Given the description of an element on the screen output the (x, y) to click on. 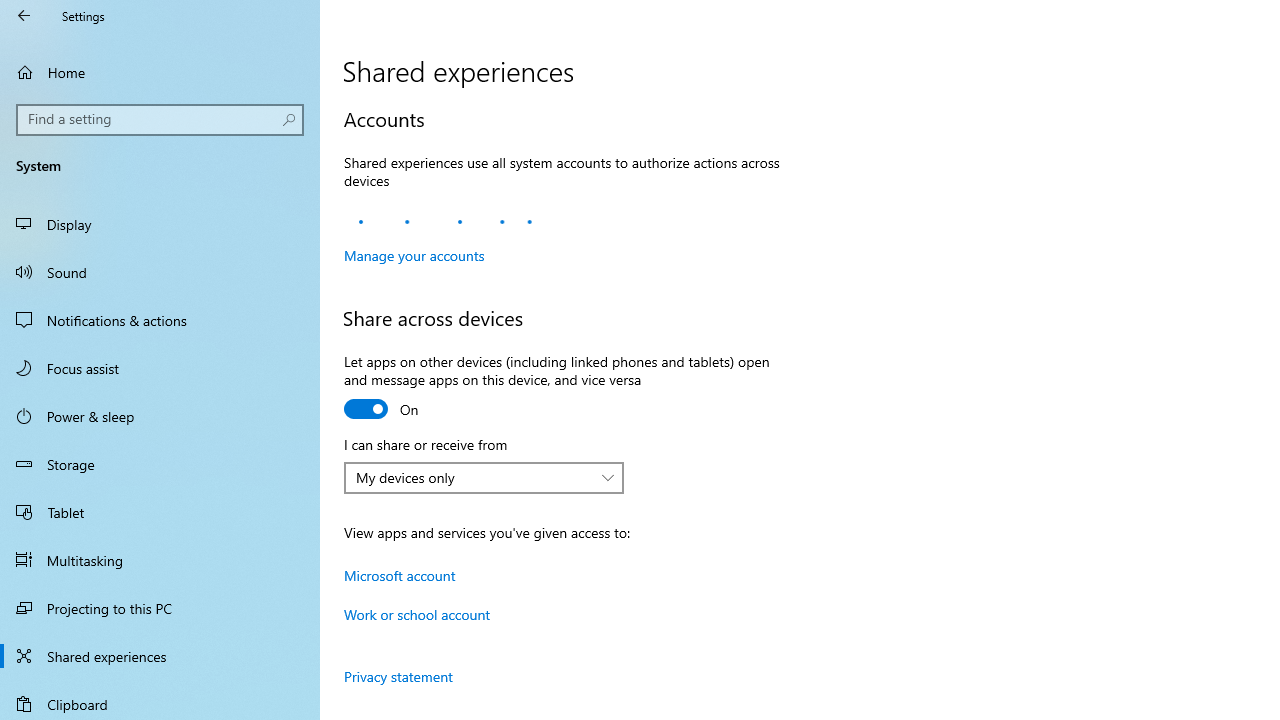
Focus assist (160, 367)
My devices only (473, 477)
Tablet (160, 511)
I can share or receive from (484, 477)
